Given the description of an element on the screen output the (x, y) to click on. 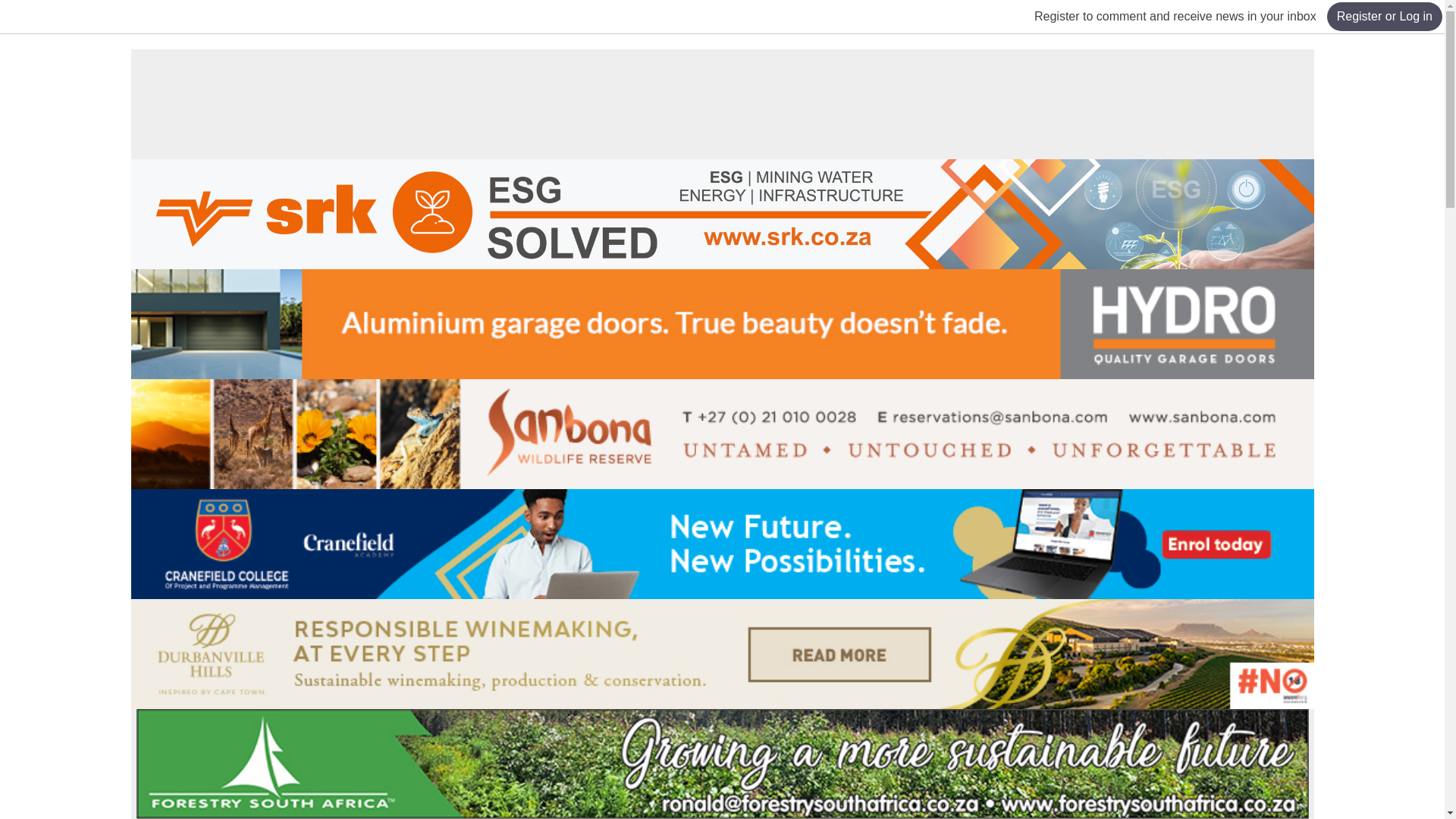
Register or Log in (1384, 16)
